Given the description of an element on the screen output the (x, y) to click on. 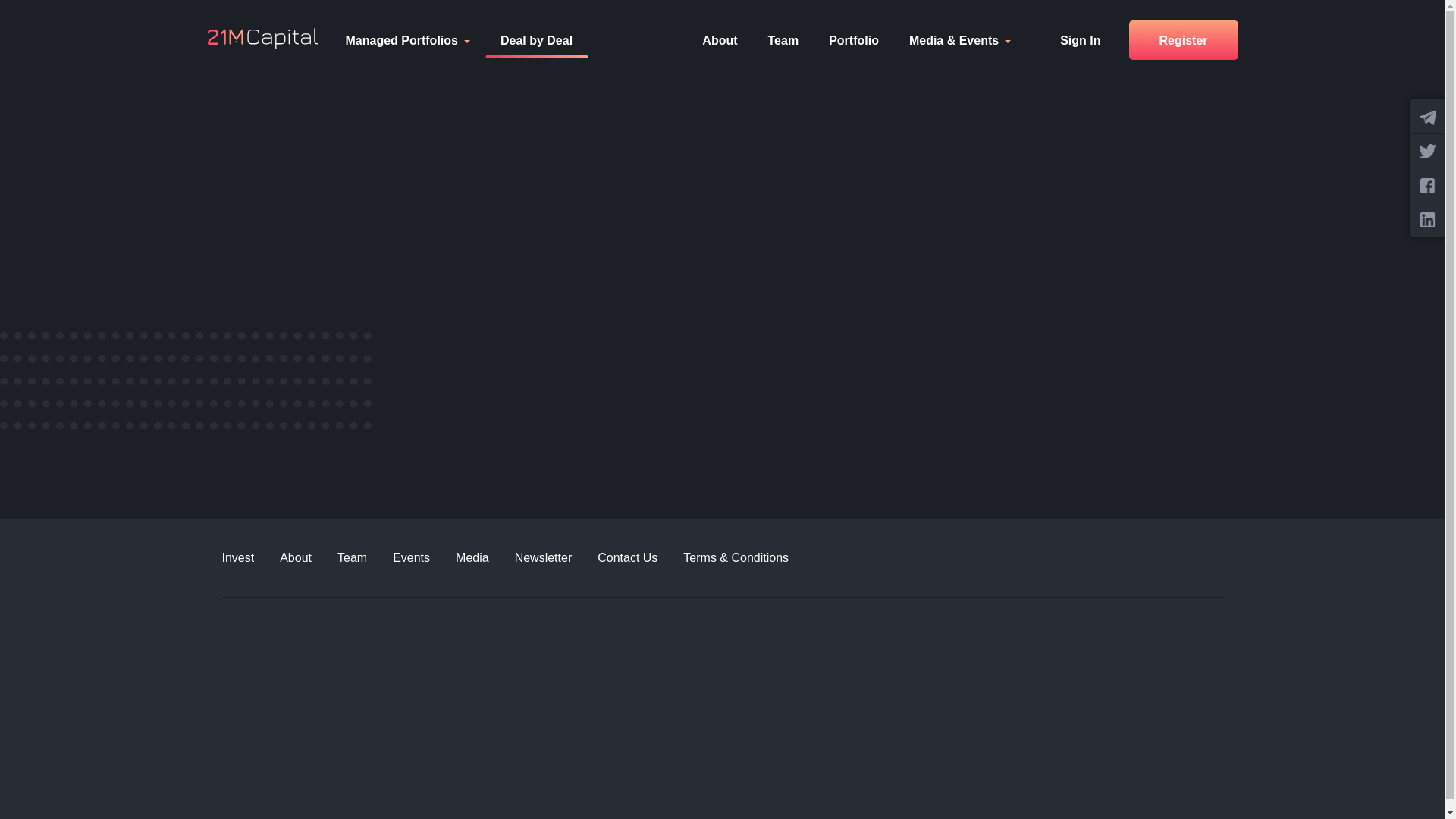
Media & Events Element type: text (960, 40)
Team Element type: text (364, 557)
Terms & Conditions Element type: text (748, 557)
Media Element type: text (484, 557)
Register Element type: text (1182, 39)
Deal by Deal Element type: text (536, 40)
Team Element type: text (783, 40)
21MCapital Element type: hover (261, 32)
Invest Element type: text (250, 557)
Portfolio Element type: text (853, 40)
Events Element type: text (423, 557)
Managed Portfolios Element type: text (407, 40)
Contact Us Element type: text (640, 557)
About Element type: text (719, 40)
Sign In Element type: text (1079, 40)
Newsletter Element type: text (556, 557)
About Element type: text (308, 557)
